Given the description of an element on the screen output the (x, y) to click on. 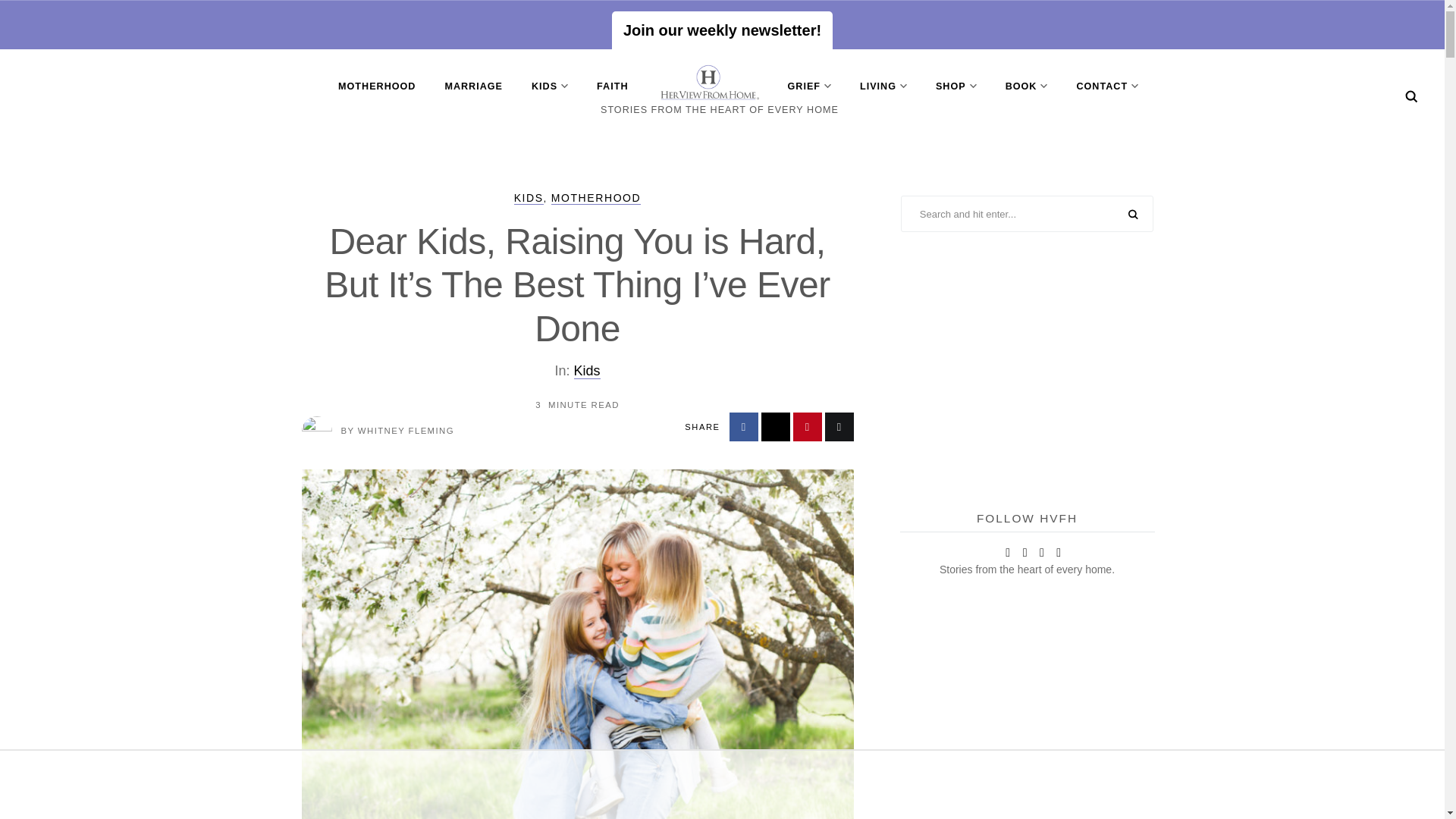
Share on Pinterest (807, 426)
Share on X (775, 426)
Share by Email (839, 426)
SEARCH (1133, 214)
Search (1411, 96)
Share on Facebook (743, 426)
